Given the description of an element on the screen output the (x, y) to click on. 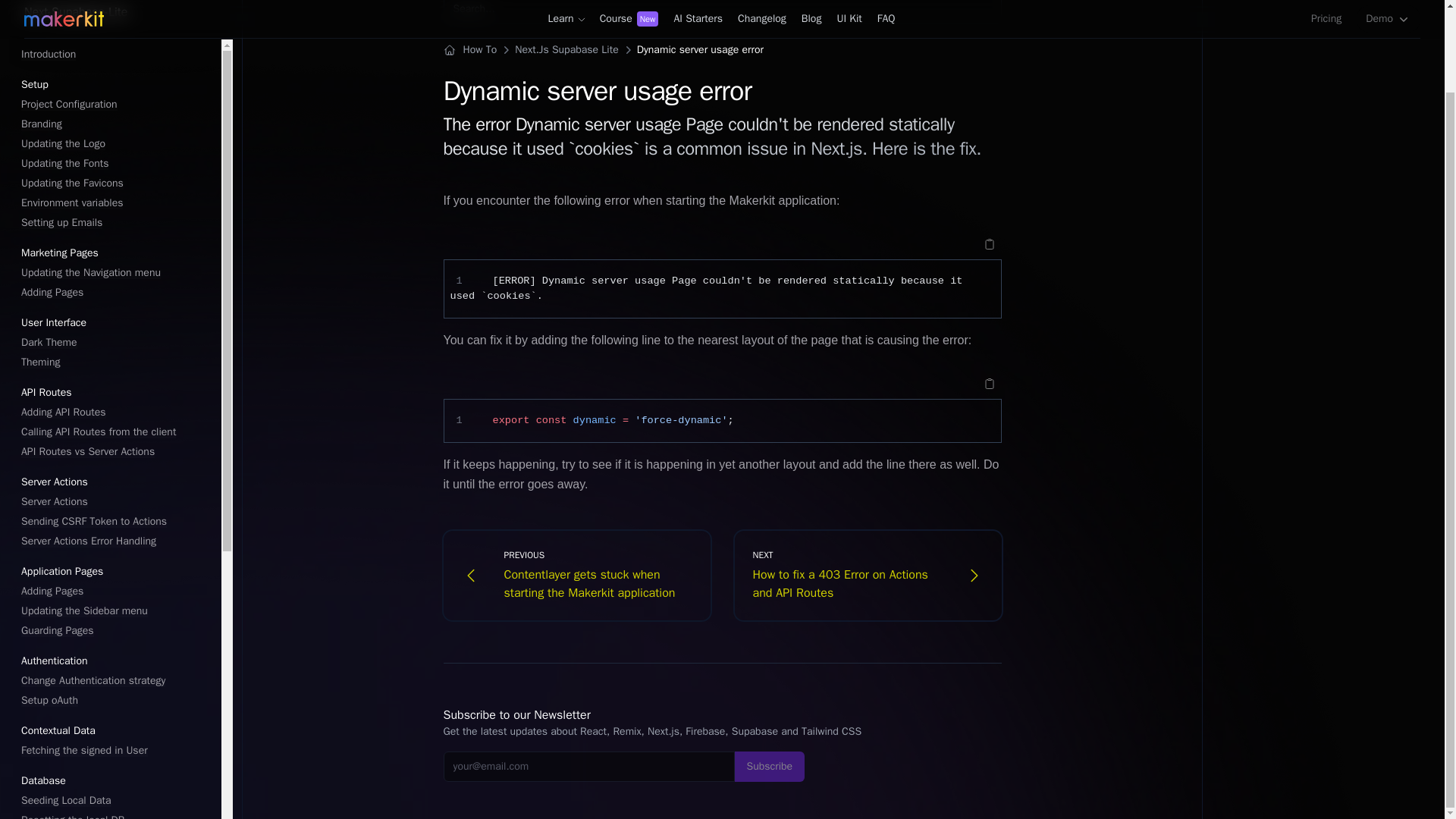
Project Configuration (114, 104)
Seeding Local Data (114, 800)
Introduction (114, 54)
Adding Pages (114, 292)
Calling API Routes from the client (114, 432)
Server Actions (114, 502)
Branding (114, 124)
Updating the Fonts (114, 163)
Dark Theme (114, 342)
Setting up Emails (114, 222)
